Given the description of an element on the screen output the (x, y) to click on. 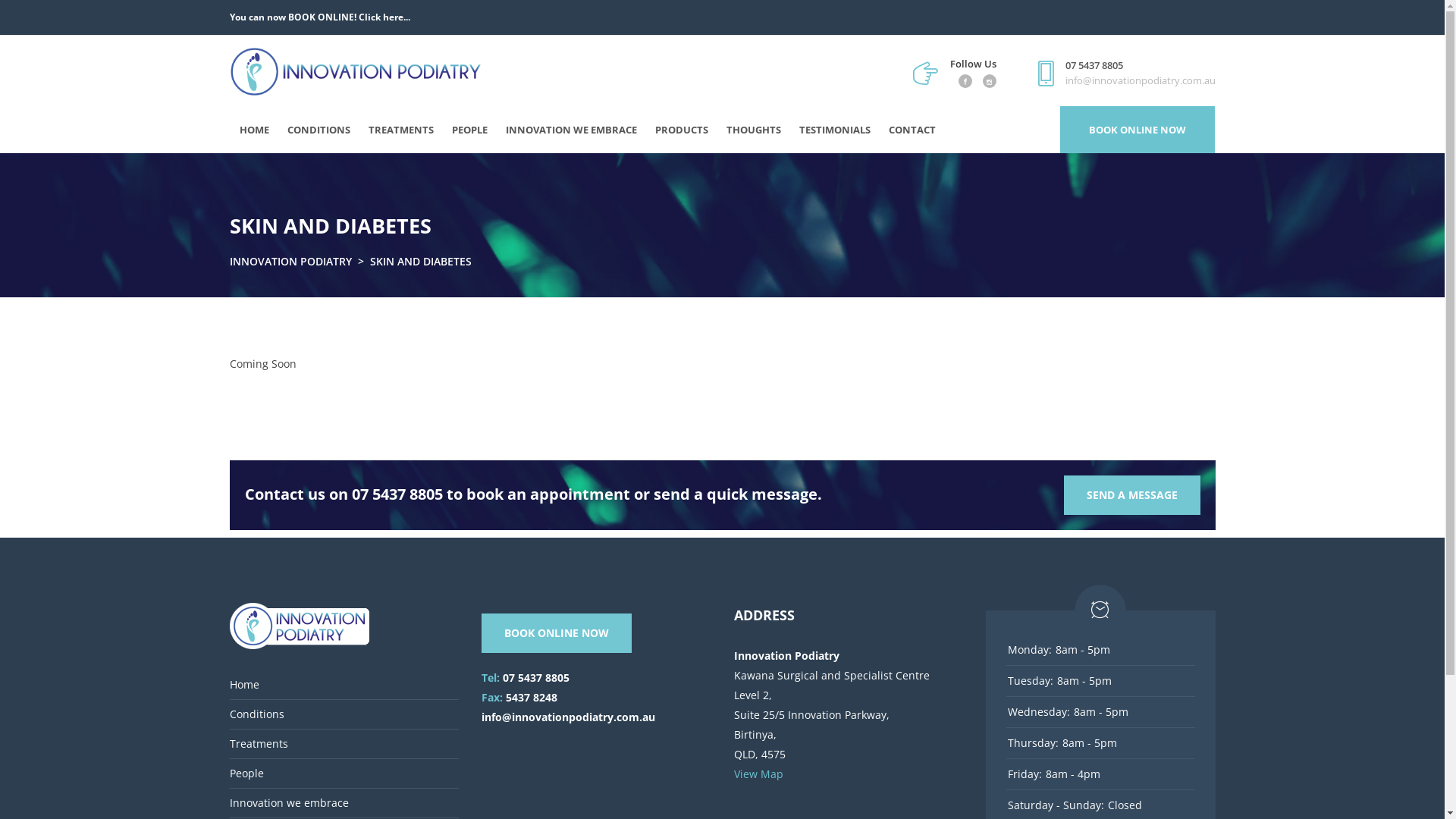
INNOVATION WE EMBRACE Element type: text (570, 129)
Conditions Element type: text (256, 713)
SEND A MESSAGE Element type: text (1131, 494)
INNOVATION PODIATRY Element type: text (290, 261)
PRODUCTS Element type: text (681, 129)
HOME Element type: text (254, 129)
You can now BOOK ONLINE! Click here... Element type: text (319, 16)
BOOK ONLINE NOW Element type: text (556, 632)
CONDITIONS Element type: text (317, 129)
Search Element type: text (1368, 25)
CONTACT Element type: text (911, 129)
THOUGHTS Element type: text (753, 129)
Innovation we embrace Element type: text (288, 802)
Treatments Element type: text (258, 743)
Home Element type: text (243, 684)
View Map Element type: text (758, 773)
TESTIMONIALS Element type: text (834, 129)
People Element type: text (246, 773)
TREATMENTS Element type: text (400, 129)
PEOPLE Element type: text (469, 129)
BOOK ONLINE NOW Element type: text (1137, 129)
